Given the description of an element on the screen output the (x, y) to click on. 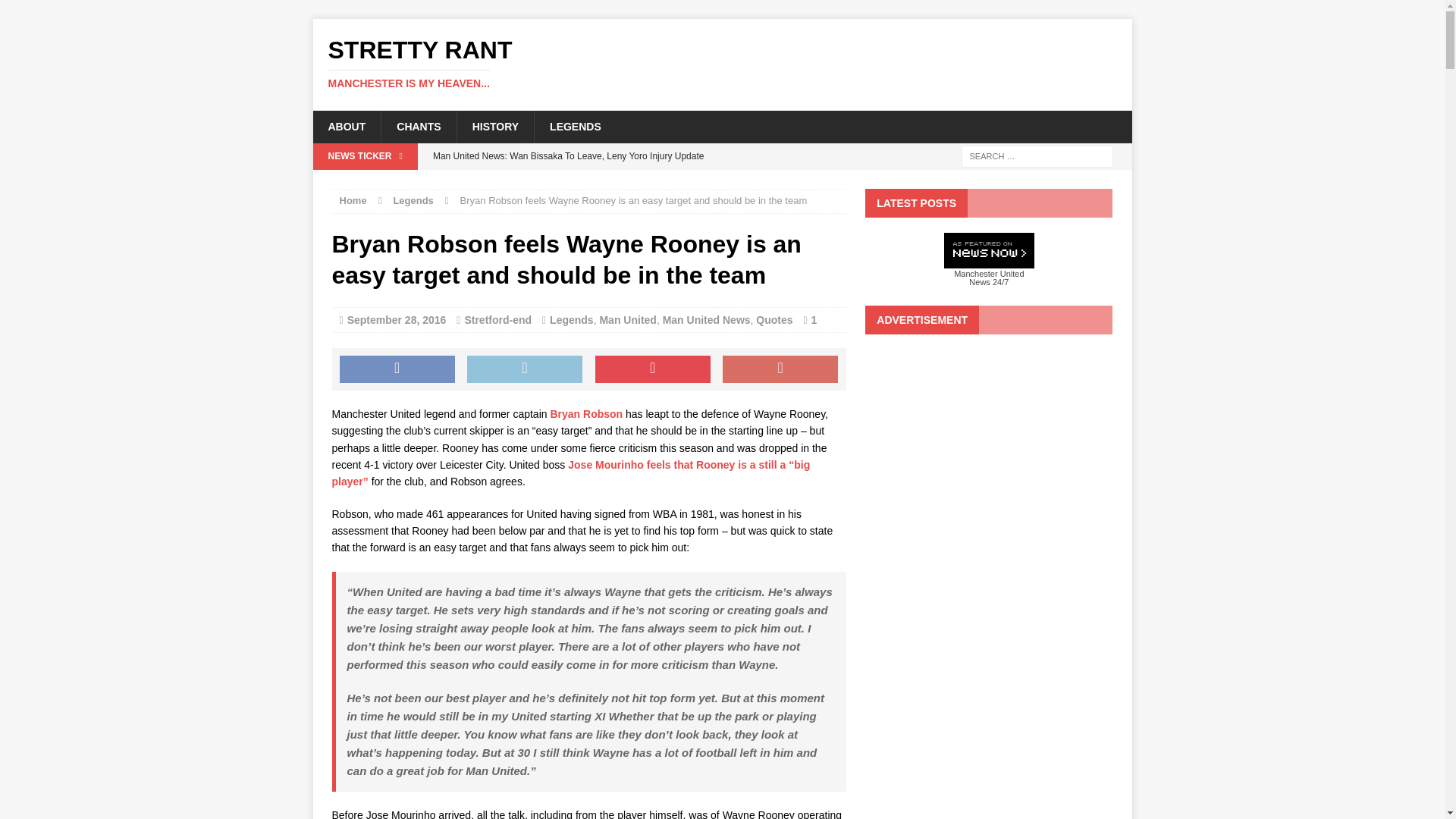
ABOUT (346, 126)
HISTORY (495, 126)
September 28, 2016 (396, 319)
CHANTS (417, 126)
Legends (572, 319)
LEGENDS (574, 126)
Search (37, 11)
Stretty Rant (722, 64)
Tweet This Post (524, 369)
Share on Facebook (396, 369)
